Given the description of an element on the screen output the (x, y) to click on. 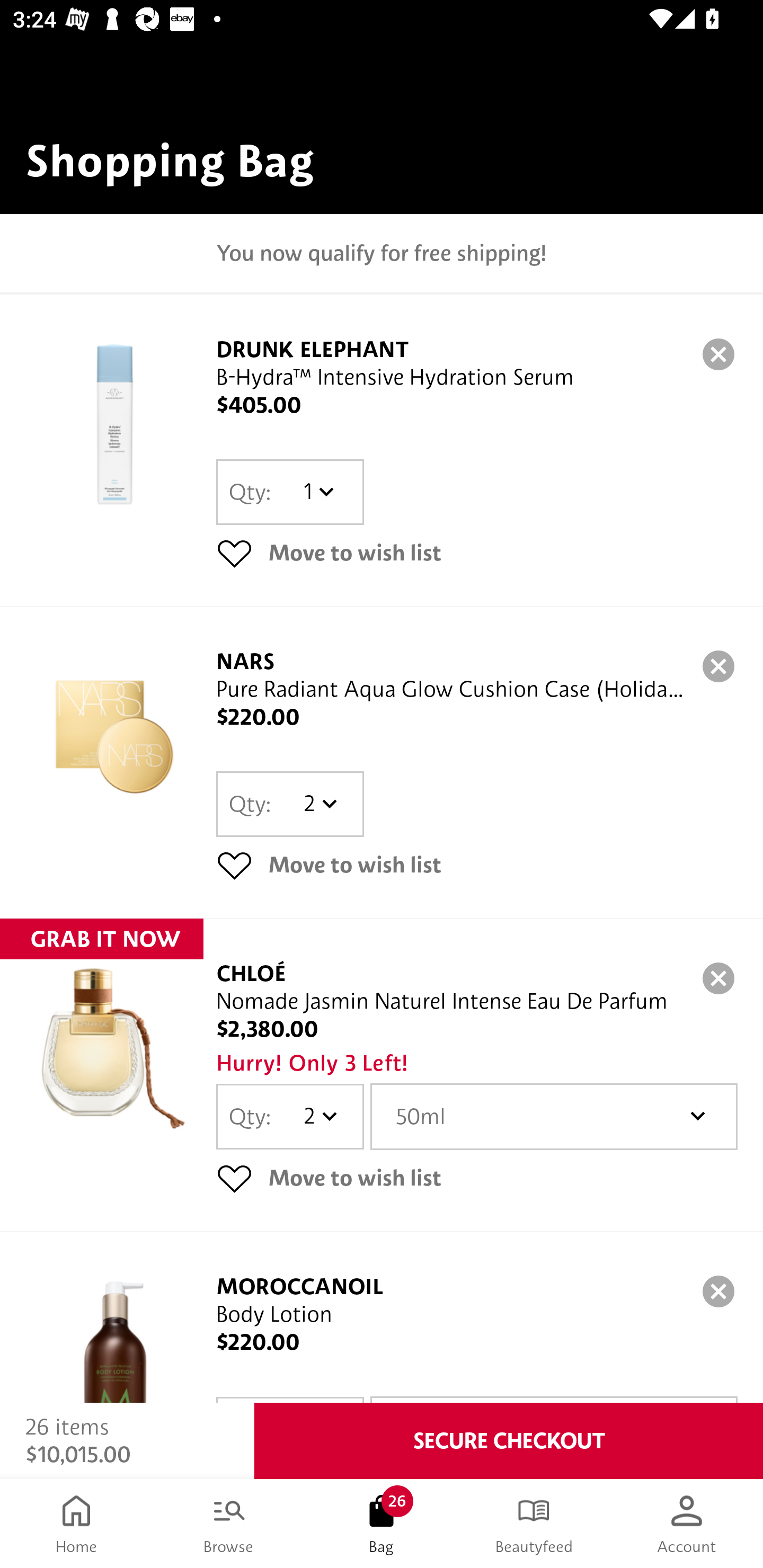
1 (317, 492)
Move to wish list (476, 552)
2 (317, 804)
Move to wish list (476, 864)
50ml (553, 1116)
2 (317, 1116)
Move to wish list (476, 1177)
MOROCCANOIL Body Lotion $220.00 (381, 1316)
SECURE CHECKOUT (508, 1440)
Home (76, 1523)
Browse (228, 1523)
Beautyfeed (533, 1523)
Account (686, 1523)
